Given the description of an element on the screen output the (x, y) to click on. 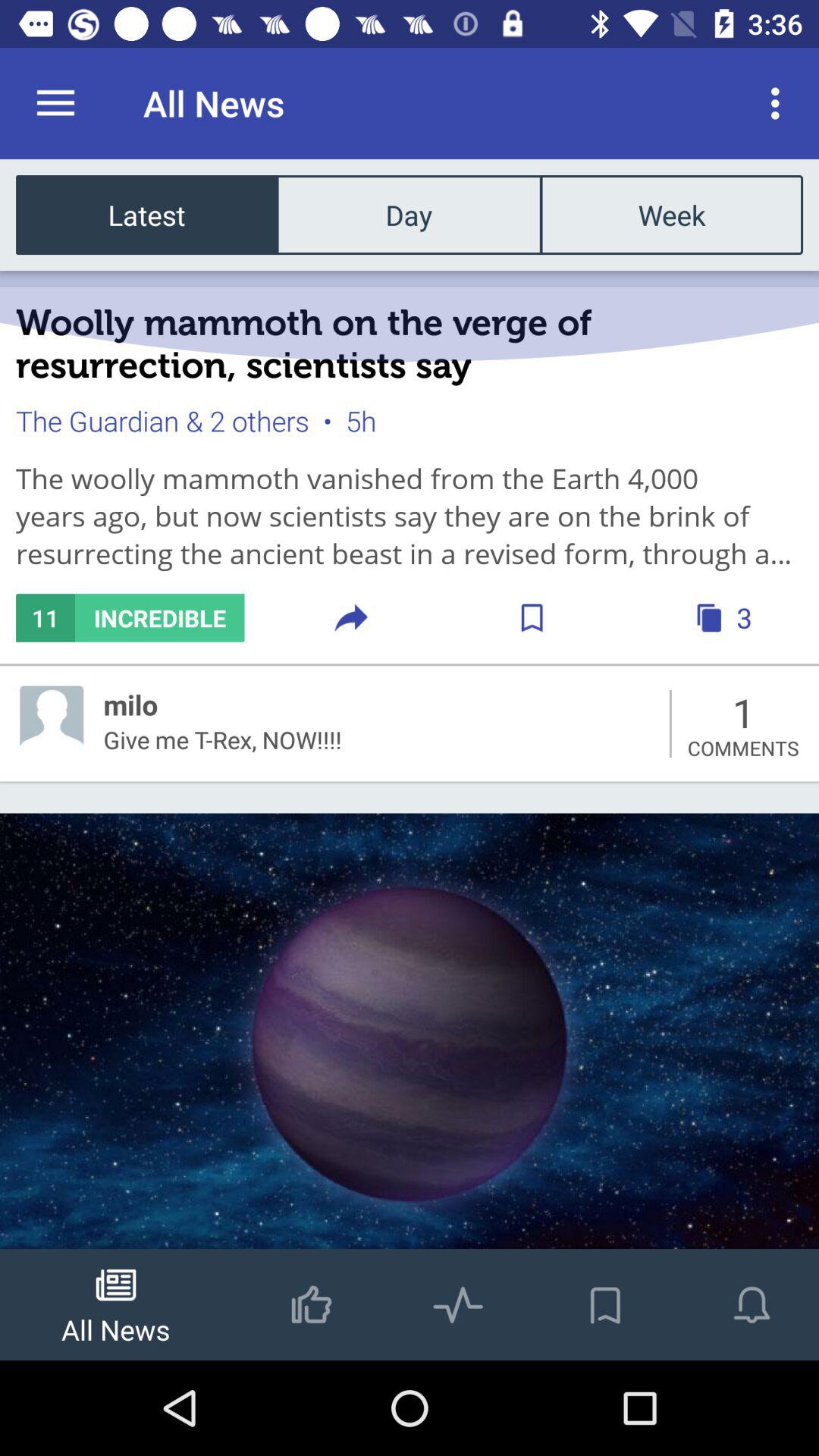
tap icon next to week item (409, 214)
